Given the description of an element on the screen output the (x, y) to click on. 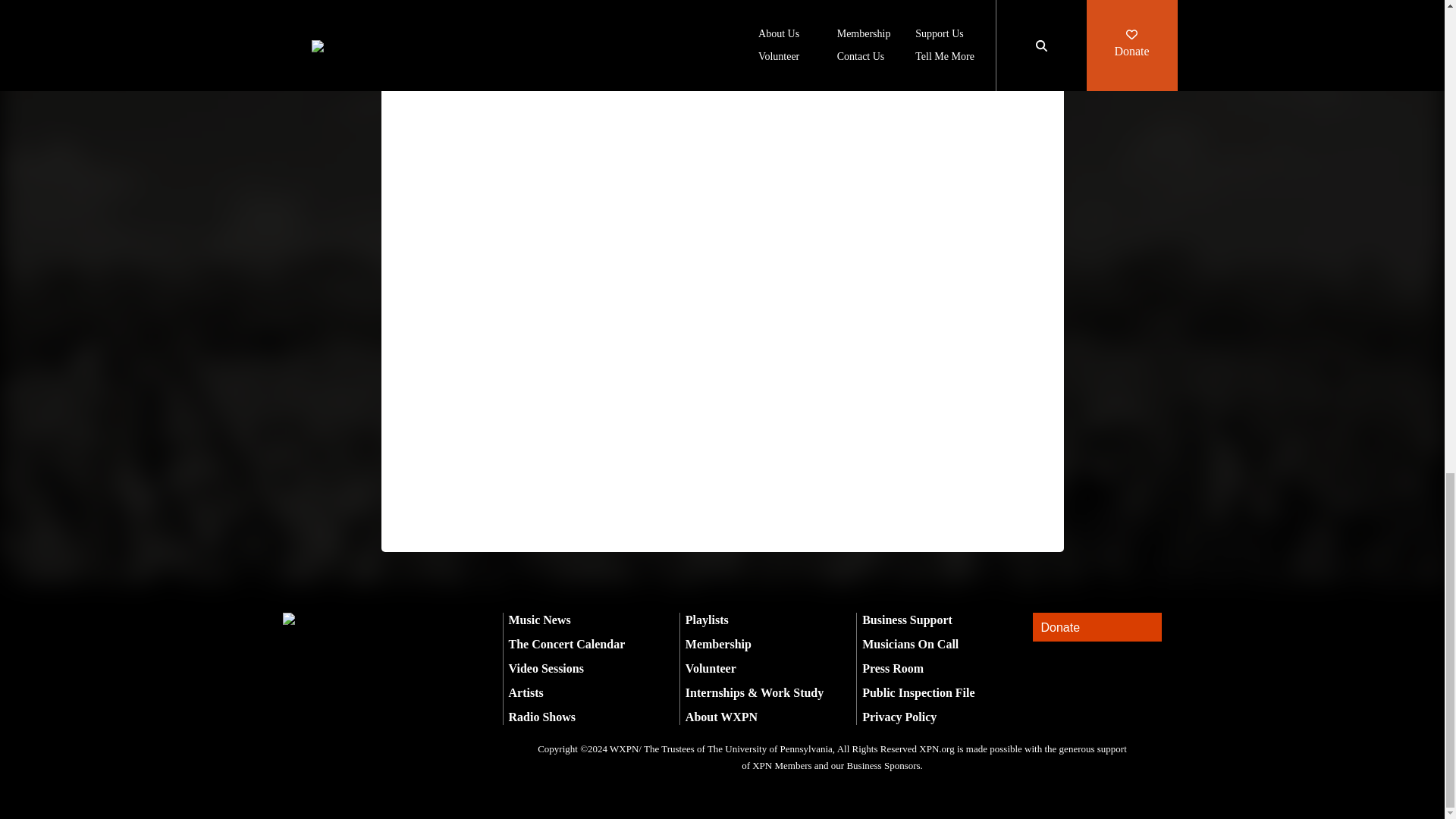
Membership (718, 644)
Playlists (707, 619)
Business Support (906, 619)
Public Inspection File (917, 692)
Artists (525, 692)
Video Sessions (545, 667)
The Concert Calendar (566, 644)
About WXPN (721, 716)
Donate (1096, 626)
Music News (539, 619)
